Given the description of an element on the screen output the (x, y) to click on. 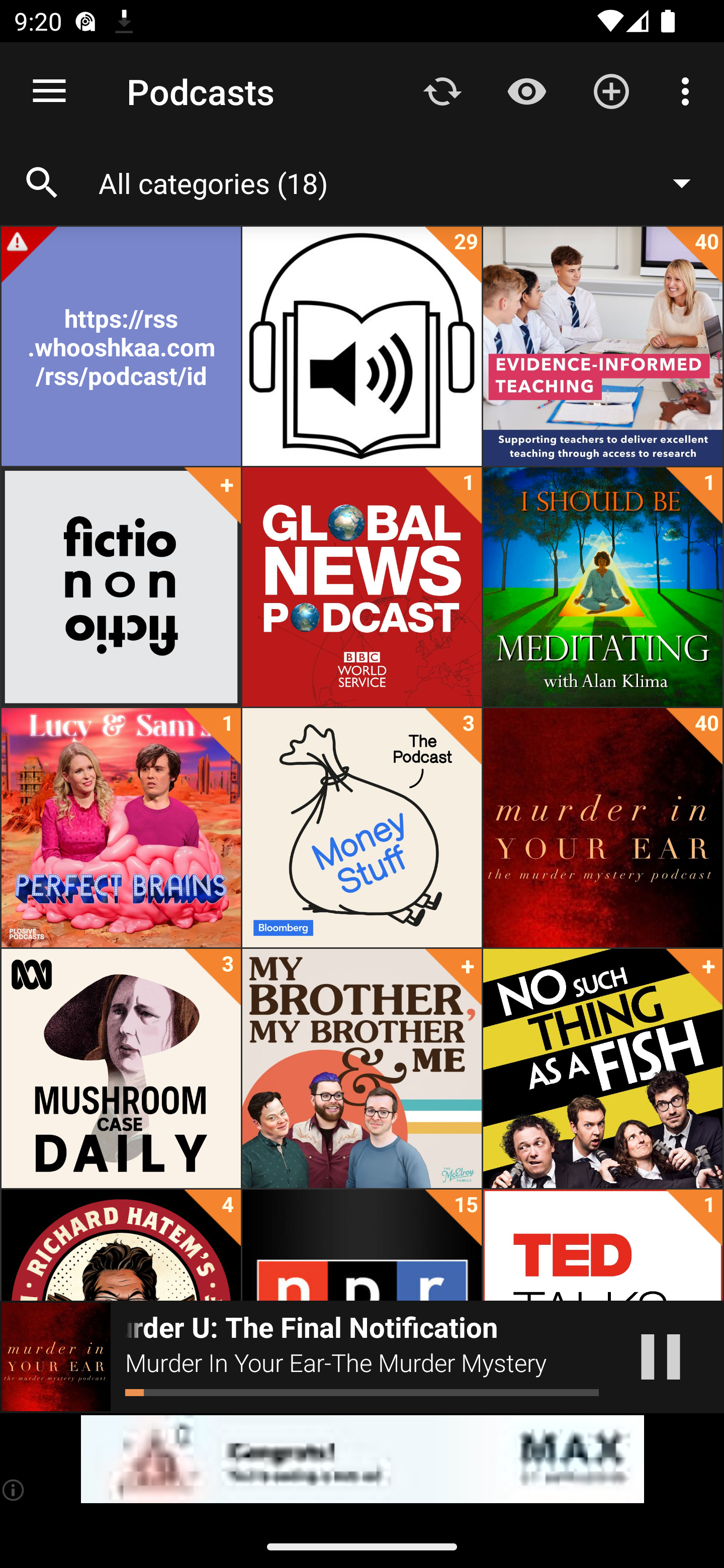
Open navigation sidebar (49, 91)
Update (442, 90)
Show / Hide played content (526, 90)
Add new Podcast (611, 90)
More options (688, 90)
Search (42, 183)
All categories (18) (404, 182)
https://rss.whooshkaa.com/rss/podcast/id/5884 (121, 346)
Audiobooks 29 (361, 346)
fiction/non/fiction + (121, 587)
Global News Podcast 1 (361, 587)
Lucy & Sam's Perfect Brains 1 (121, 827)
Money Stuff: The Podcast 3 (361, 827)
Murder In Your Ear-The Murder Mystery Podcast 40 (602, 827)
Mushroom Case Daily 3 (121, 1068)
My Brother, My Brother And Me + (361, 1068)
No Such Thing As A Fish + (602, 1068)
Play / Pause (660, 1356)
app-monetization (362, 1459)
(i) (14, 1489)
